Given the description of an element on the screen output the (x, y) to click on. 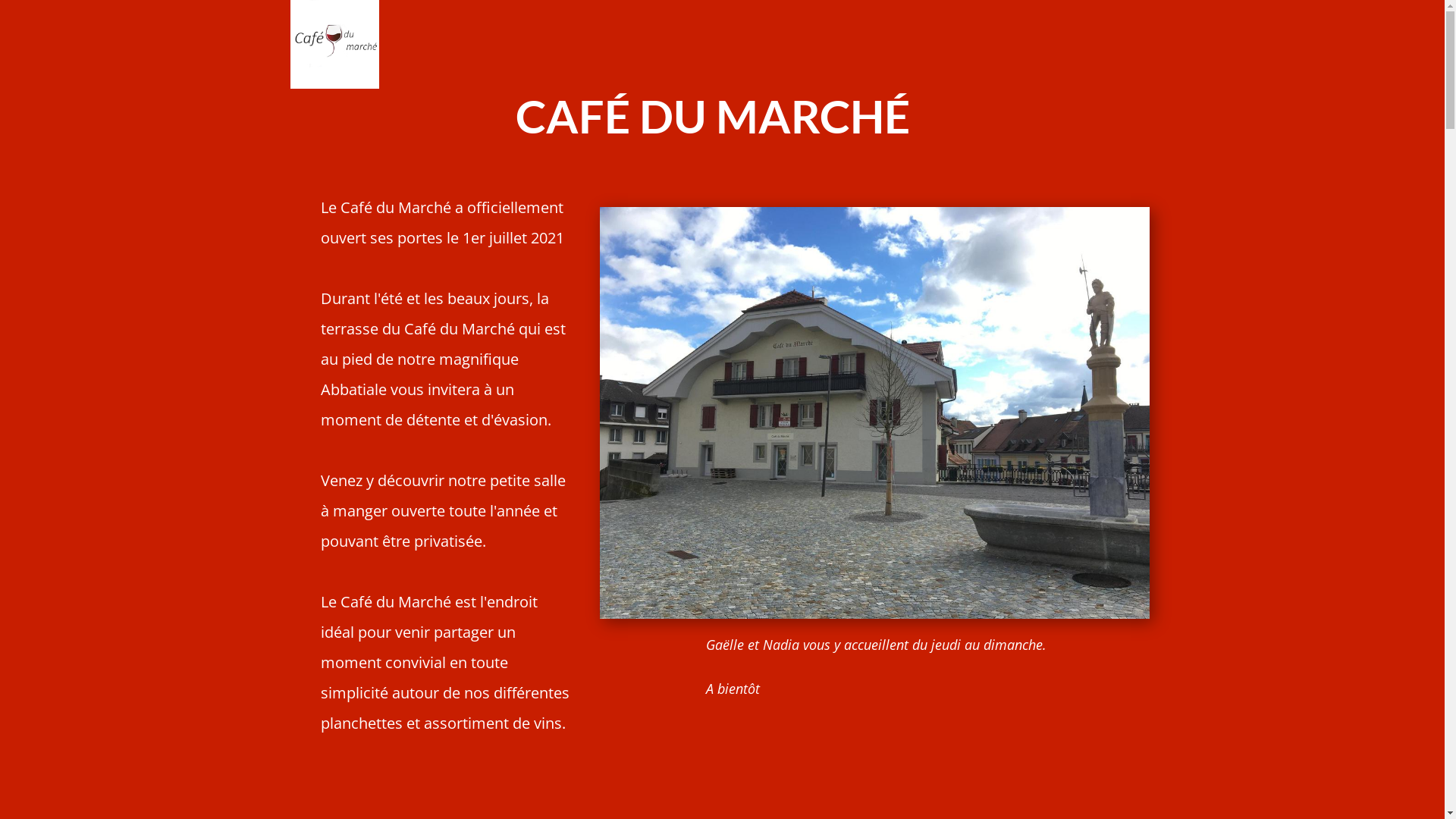
index Element type: hover (333, 44)
